Given the description of an element on the screen output the (x, y) to click on. 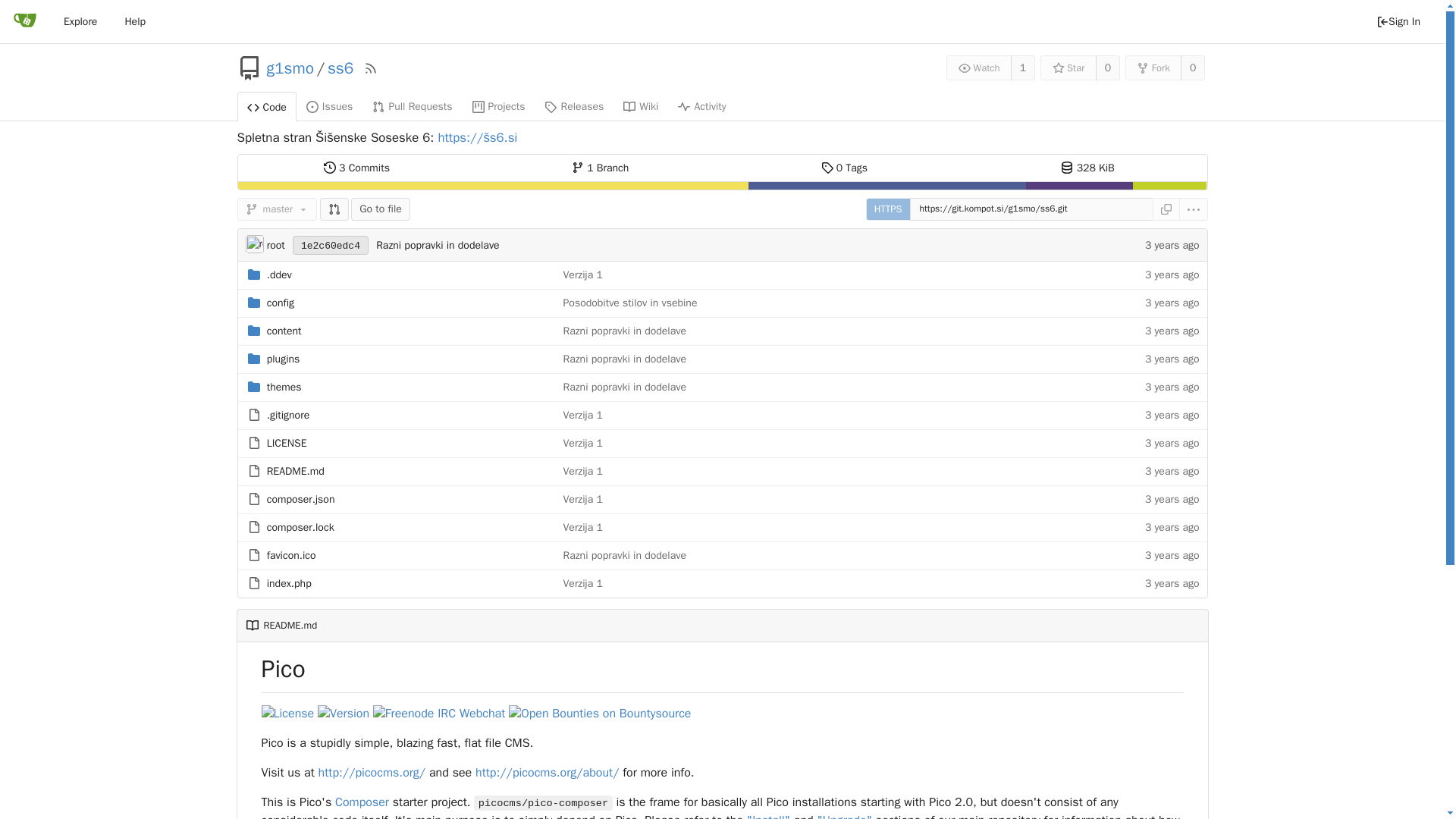
master (276, 209)
0 (1107, 67)
1 (1022, 67)
Code (265, 106)
Pull Requests (411, 105)
.gitignore (287, 414)
Go to file (380, 209)
Star (1068, 67)
Wiki (640, 105)
content (283, 330)
